Given the description of an element on the screen output the (x, y) to click on. 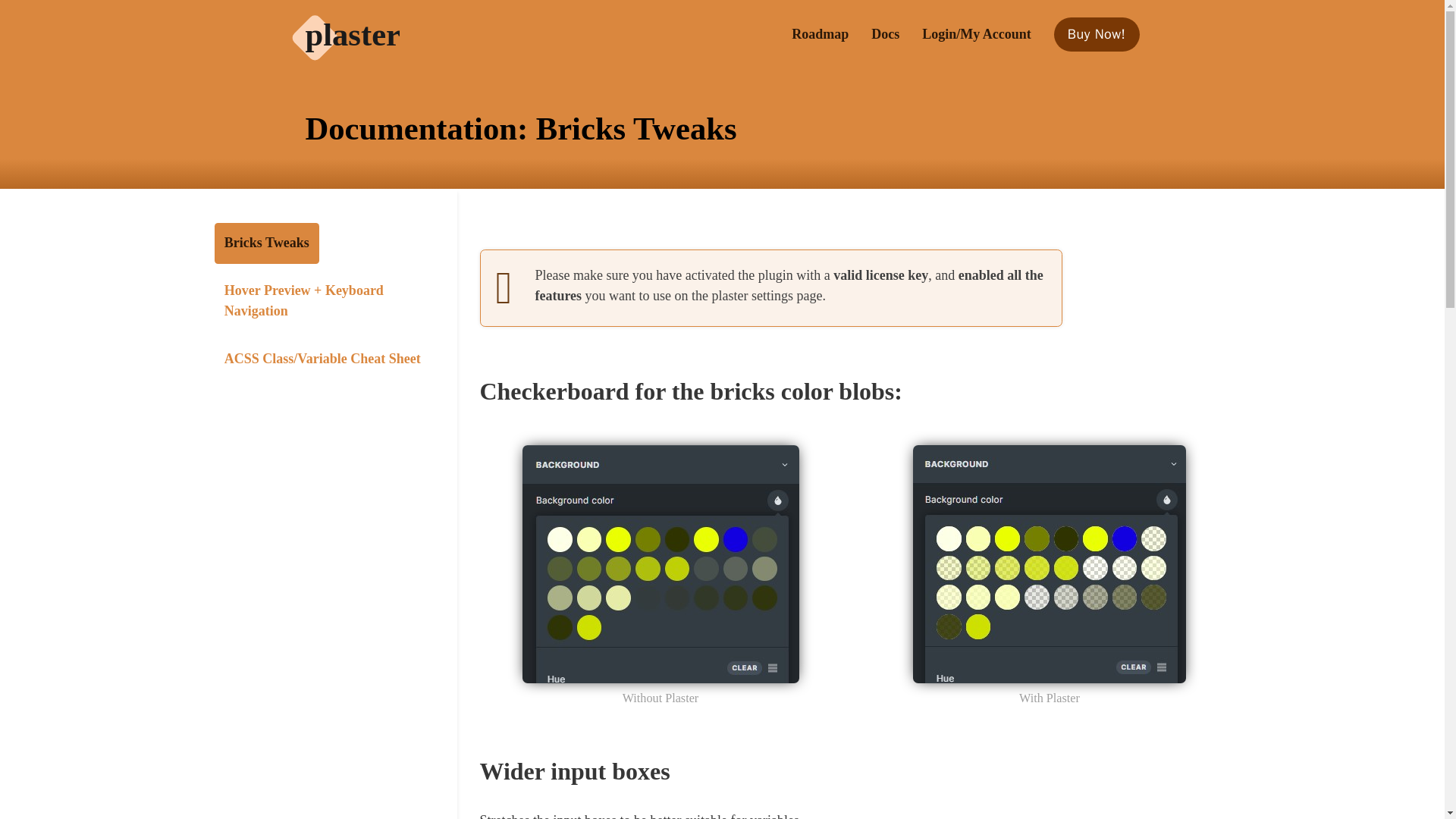
Buy Now! (1097, 34)
Bricks Tweaks (266, 242)
Docs (884, 34)
Roadmap (820, 34)
